Given the description of an element on the screen output the (x, y) to click on. 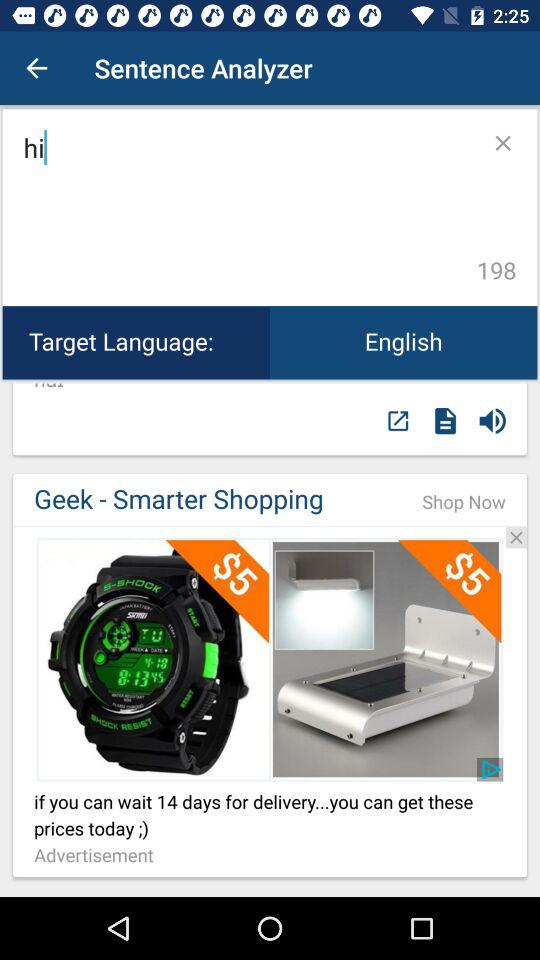
scroll until hi item (246, 207)
